Given the description of an element on the screen output the (x, y) to click on. 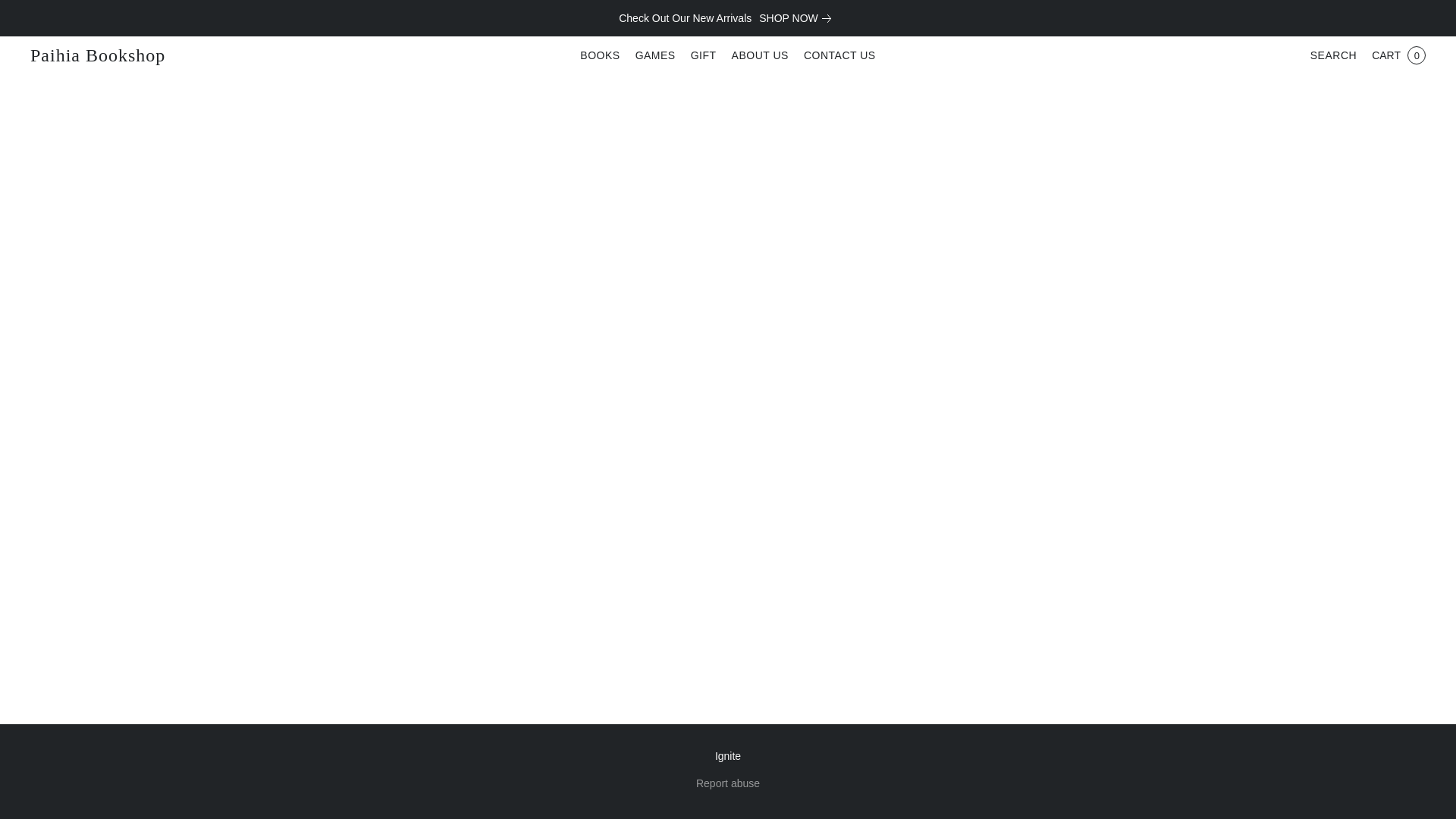
BOOKS (603, 54)
CONTACT US (836, 54)
ABOUT US (759, 54)
GAMES (654, 54)
SHOP NOW (797, 18)
Paihia Bookshop (97, 55)
Go to your shopping cart (1398, 55)
CART (1398, 55)
Search the website (1333, 55)
GIFT (702, 54)
